Given the description of an element on the screen output the (x, y) to click on. 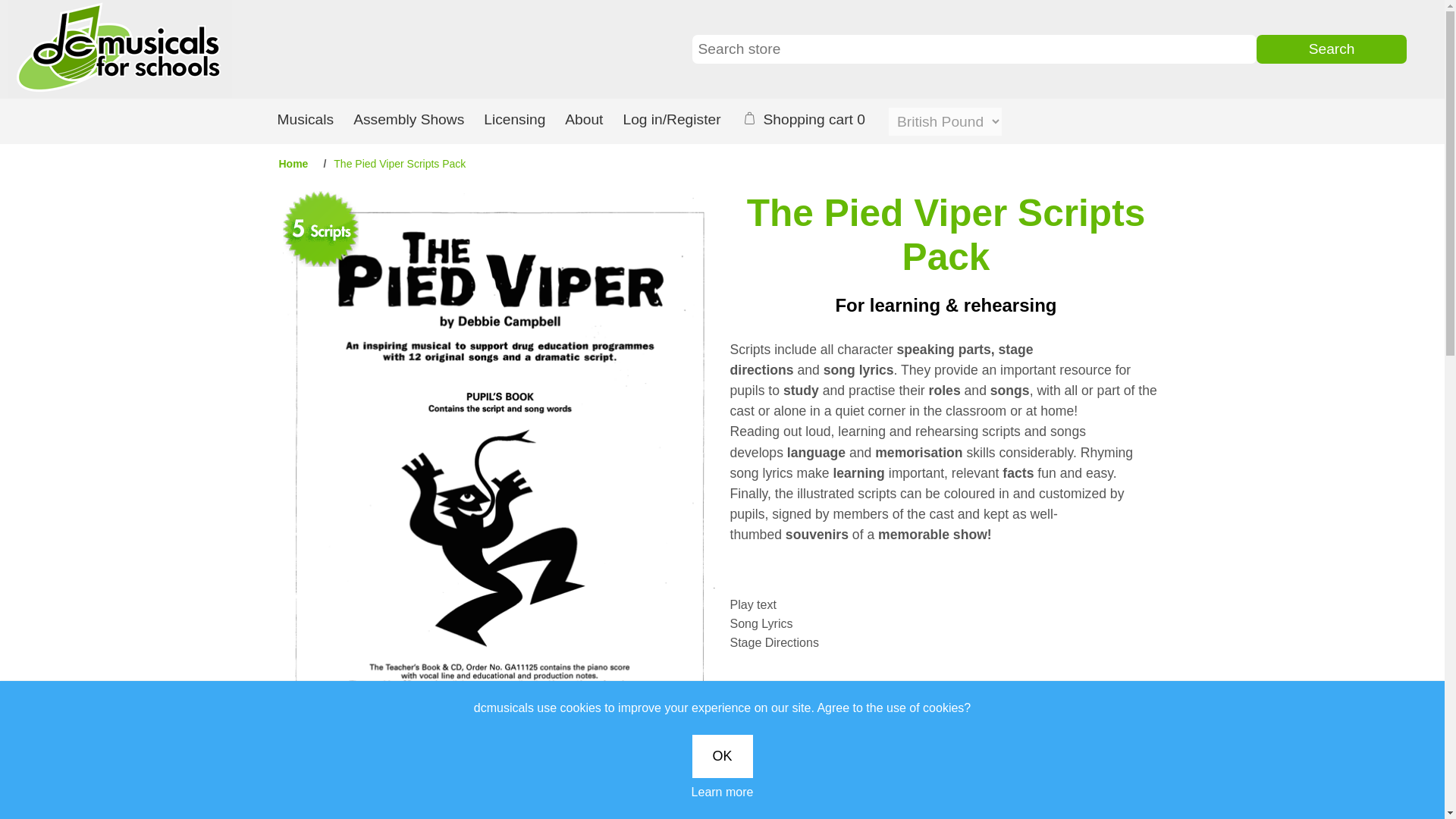
Search (1331, 49)
Search (1331, 49)
Licensing (514, 121)
Home (293, 163)
Search (1331, 49)
Musicals (304, 121)
Shopping cart 0 (809, 121)
About (583, 121)
Assembly Shows (408, 121)
